Given the description of an element on the screen output the (x, y) to click on. 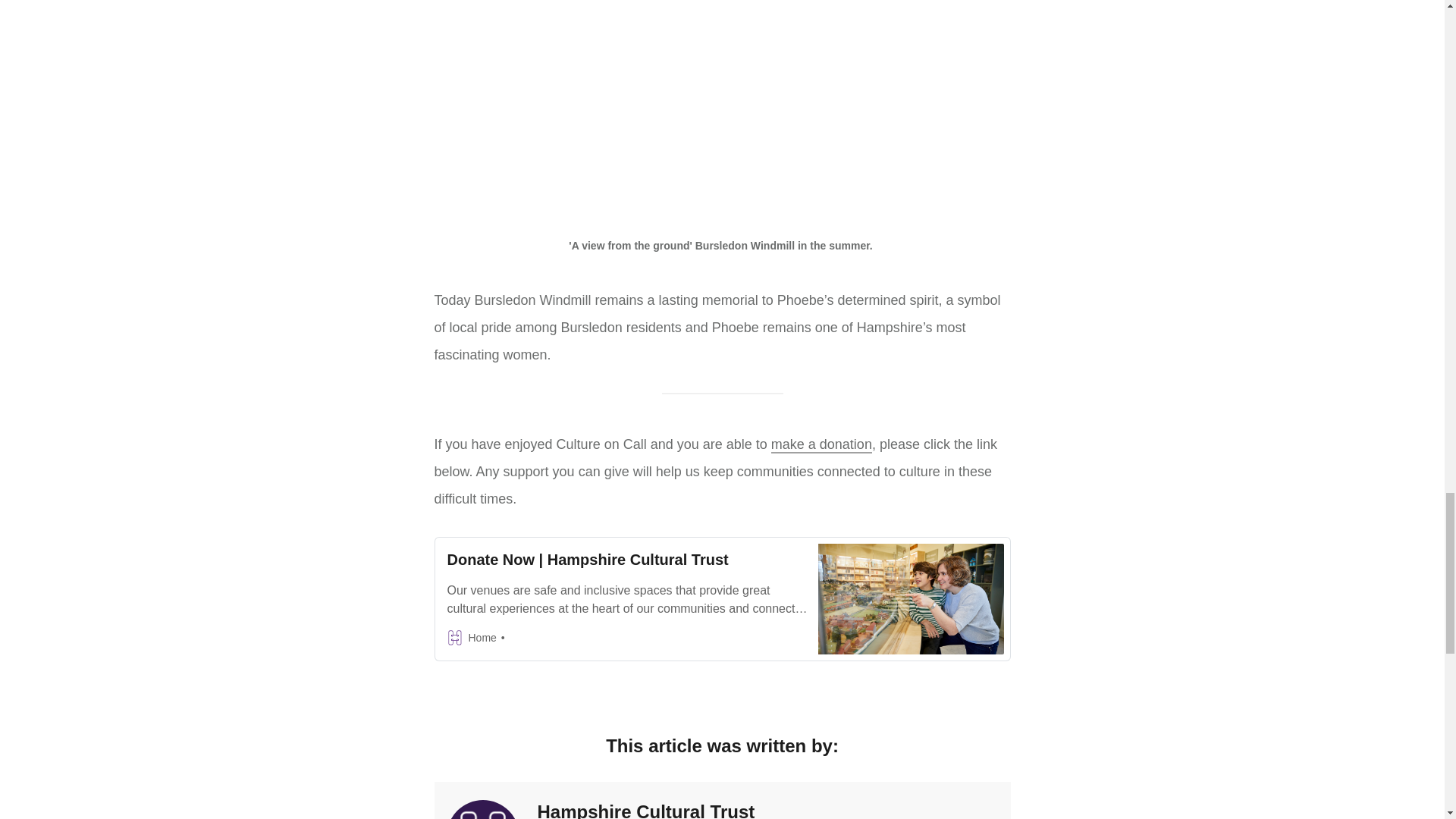
make a donation (821, 444)
Hampshire Cultural Trust (645, 810)
Hampshire Cultural Trust (481, 809)
